Given the description of an element on the screen output the (x, y) to click on. 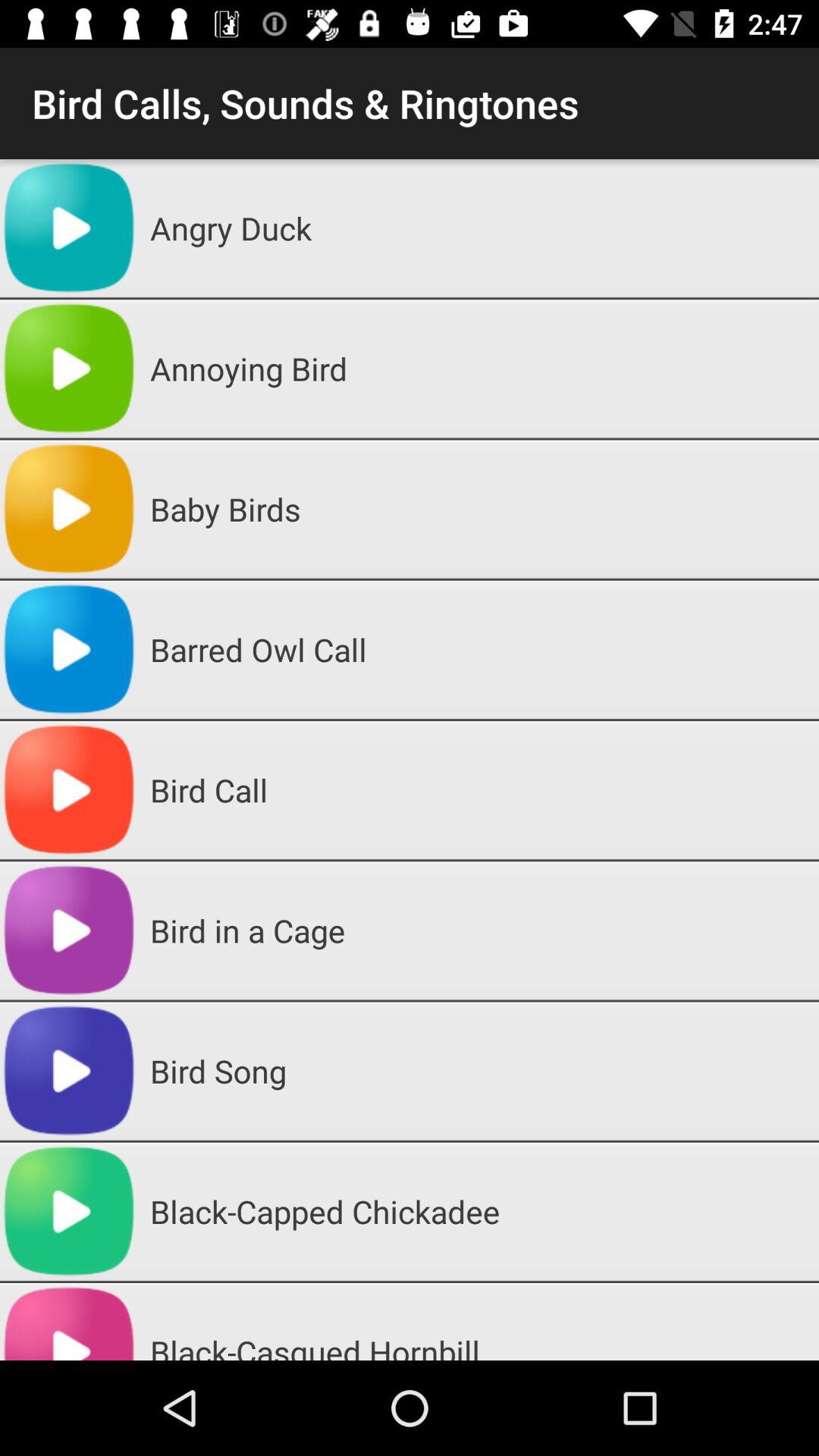
flip until black-capped chickadee app (478, 1211)
